Given the description of an element on the screen output the (x, y) to click on. 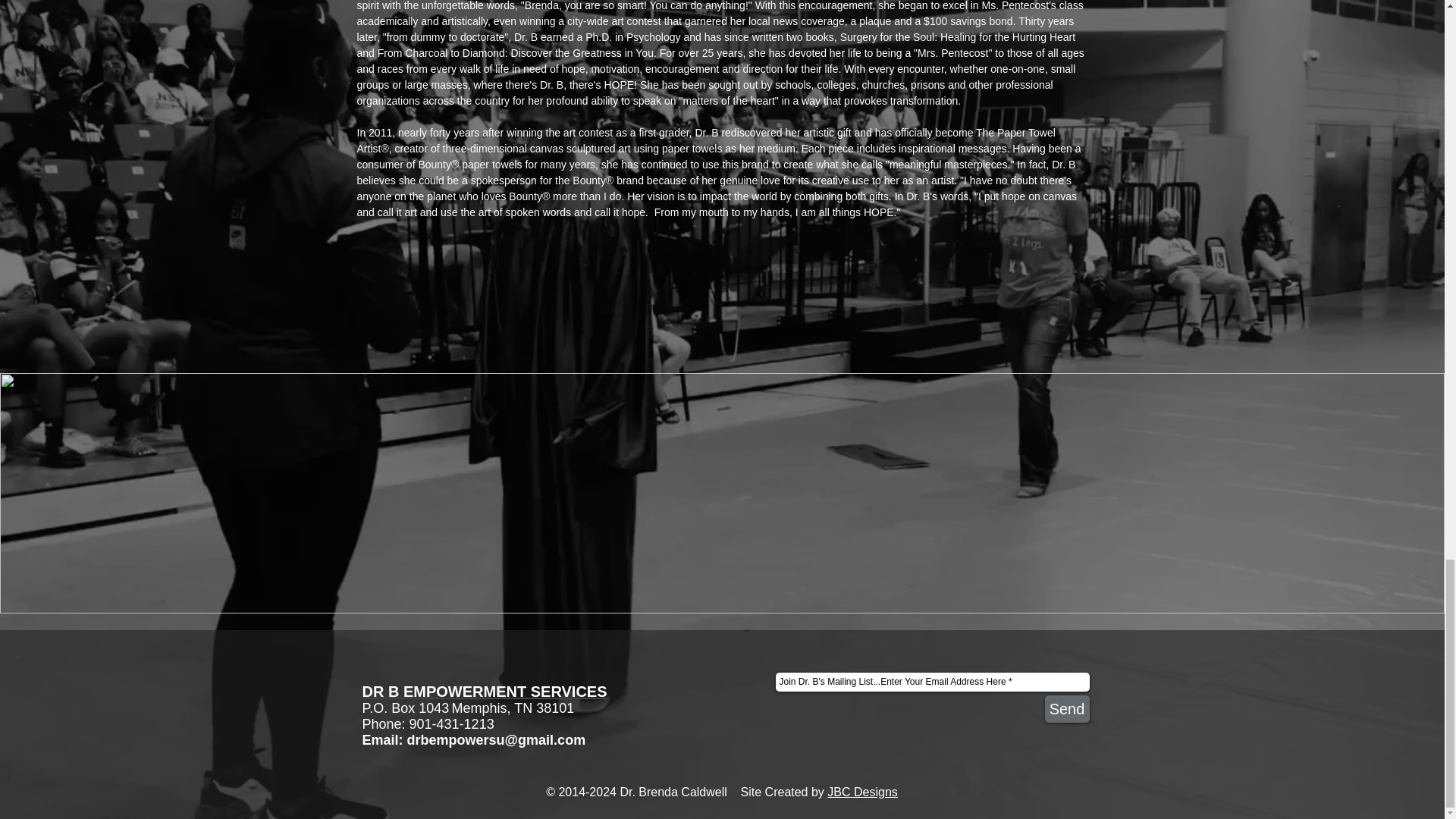
JBC Designs (861, 791)
Send (1067, 708)
External YouTube (911, 493)
External YouTube (532, 493)
